Given the description of an element on the screen output the (x, y) to click on. 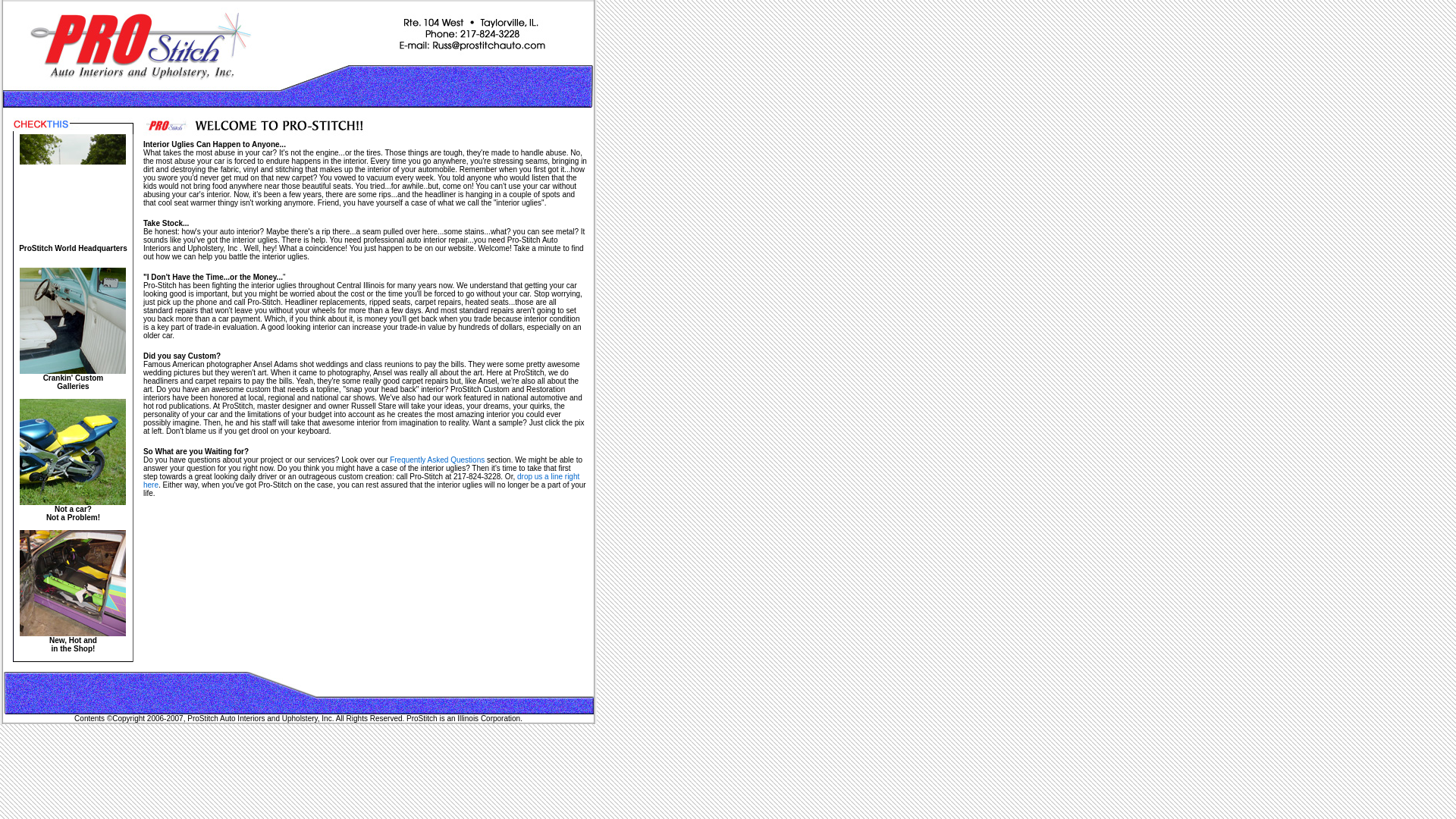
Frequently Asked Questions (72, 639)
drop us a line right here (437, 459)
ProStitch World Headquarters (360, 480)
ProStitch-Frequently Asked Questions (73, 193)
